Given the description of an element on the screen output the (x, y) to click on. 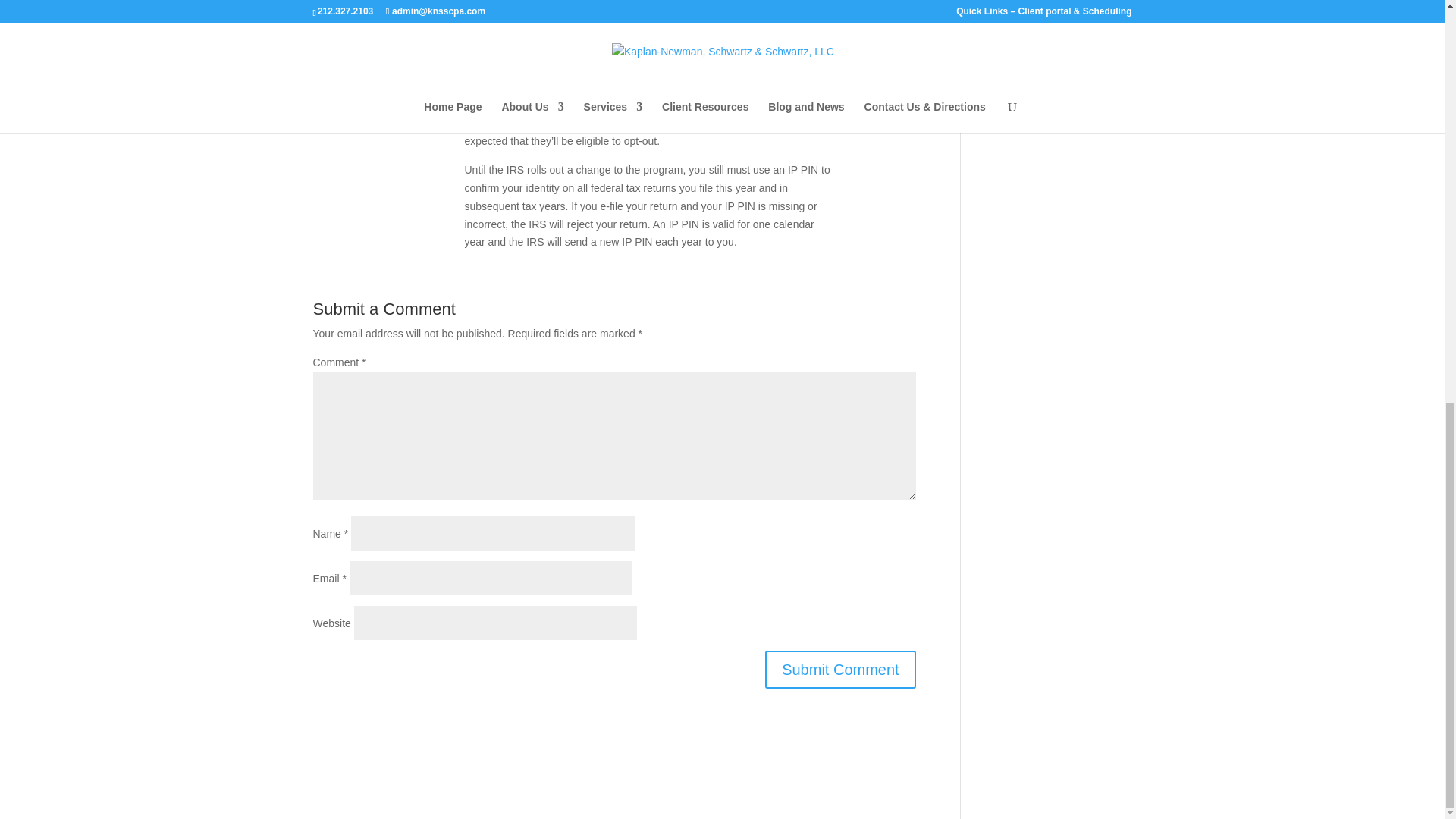
Reply (901, 49)
Submit Comment (840, 669)
Submit Comment (840, 669)
